Given the description of an element on the screen output the (x, y) to click on. 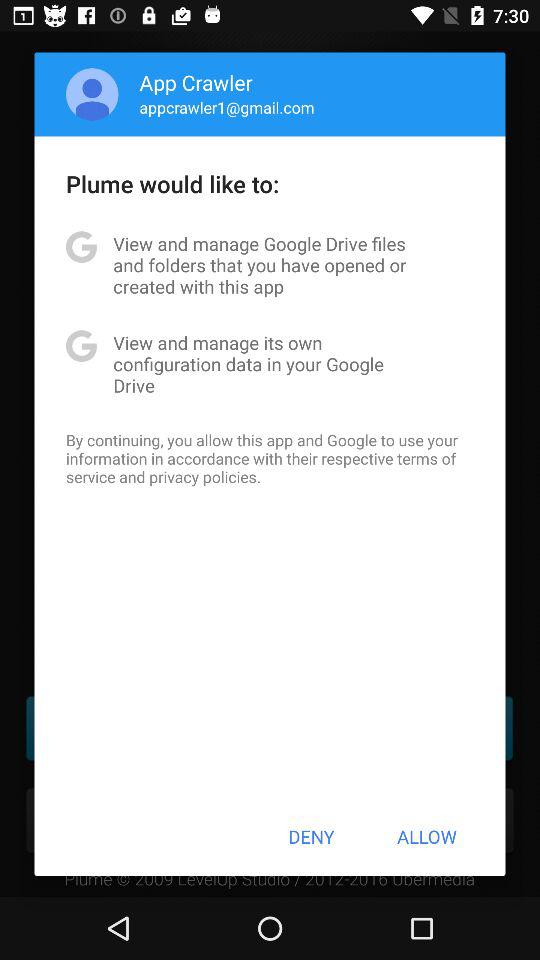
launch the item at the bottom (311, 836)
